Given the description of an element on the screen output the (x, y) to click on. 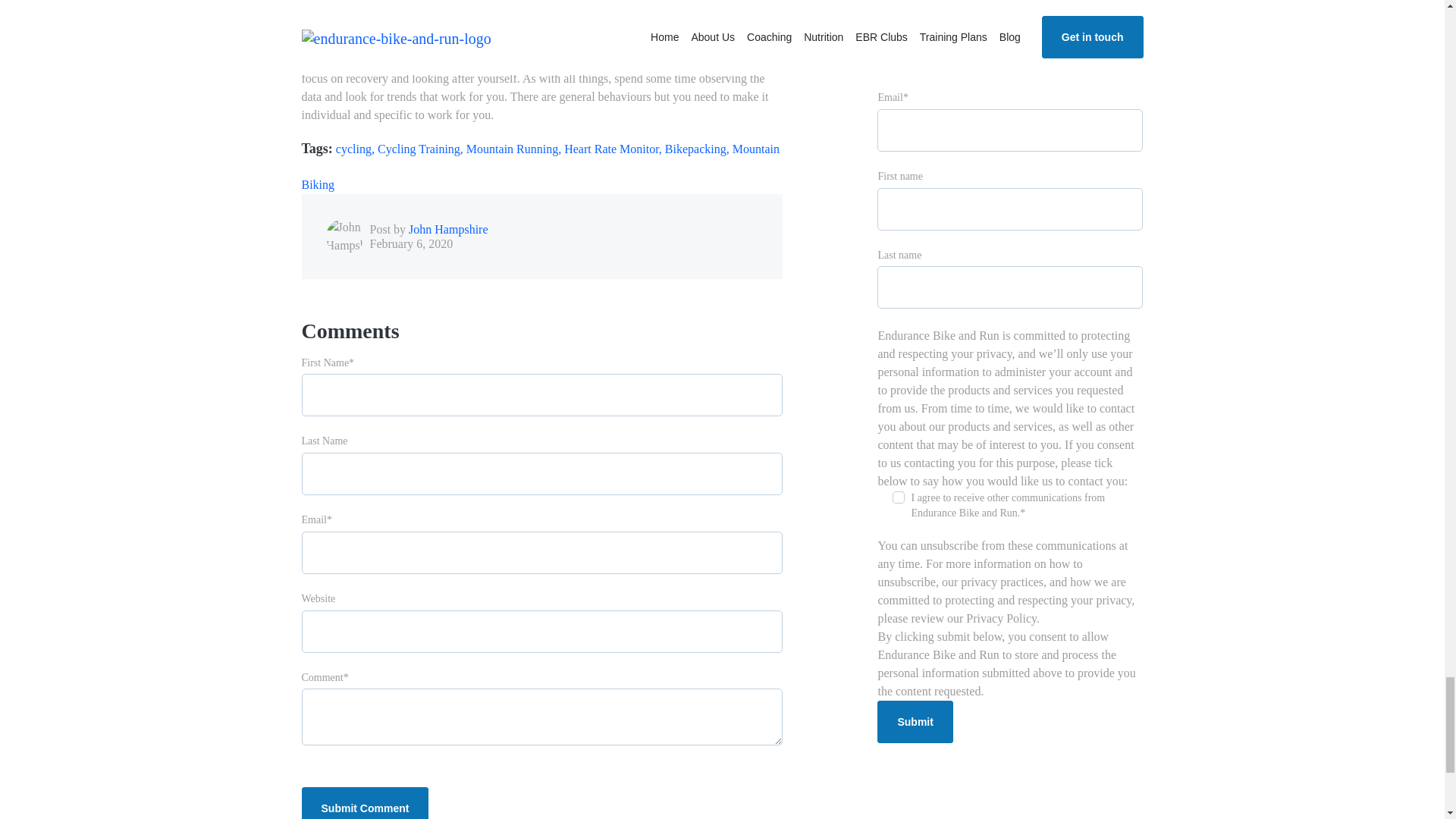
Mountain Biking (539, 166)
John Hampshire (448, 228)
Submit Comment (365, 803)
Submit Comment (365, 803)
Cycling Training, (421, 148)
Mountain Running, (514, 148)
Bikepacking, (698, 148)
cycling, (356, 148)
Heart Rate Monitor, (614, 148)
